Given the description of an element on the screen output the (x, y) to click on. 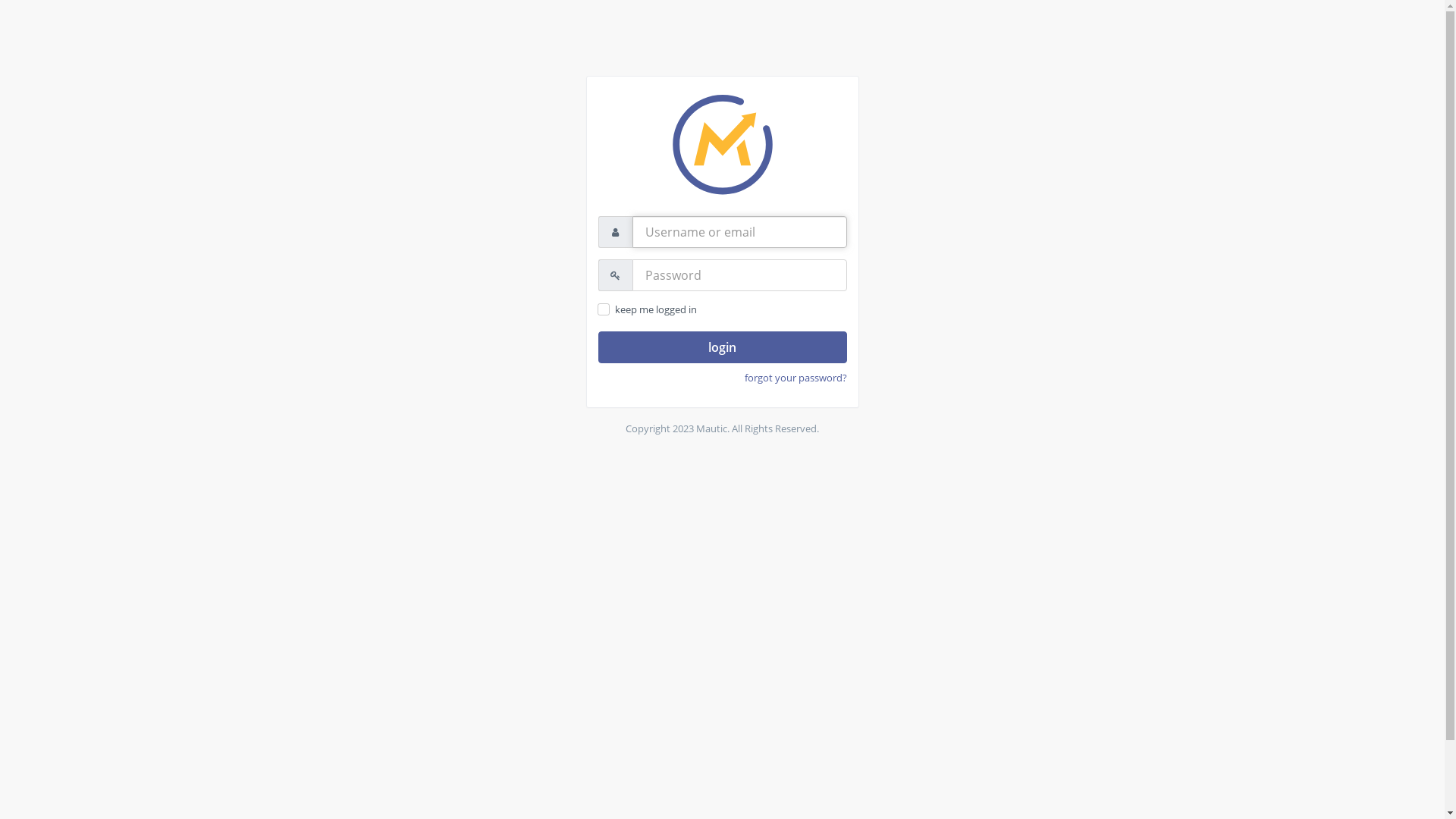
login Element type: text (721, 347)
forgot your password? Element type: text (795, 377)
